Given the description of an element on the screen output the (x, y) to click on. 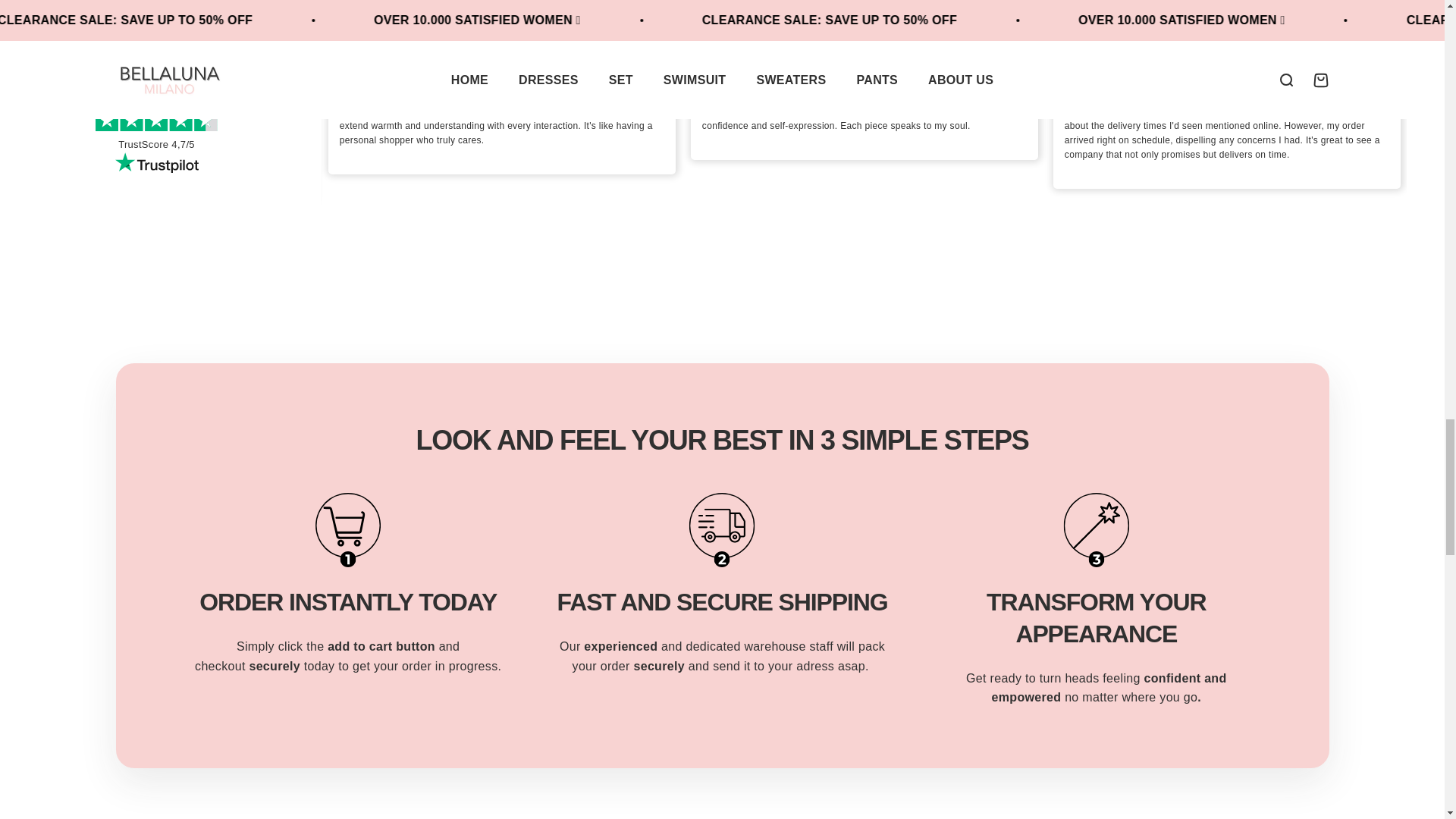
Trustpilot (156, 162)
